Given the description of an element on the screen output the (x, y) to click on. 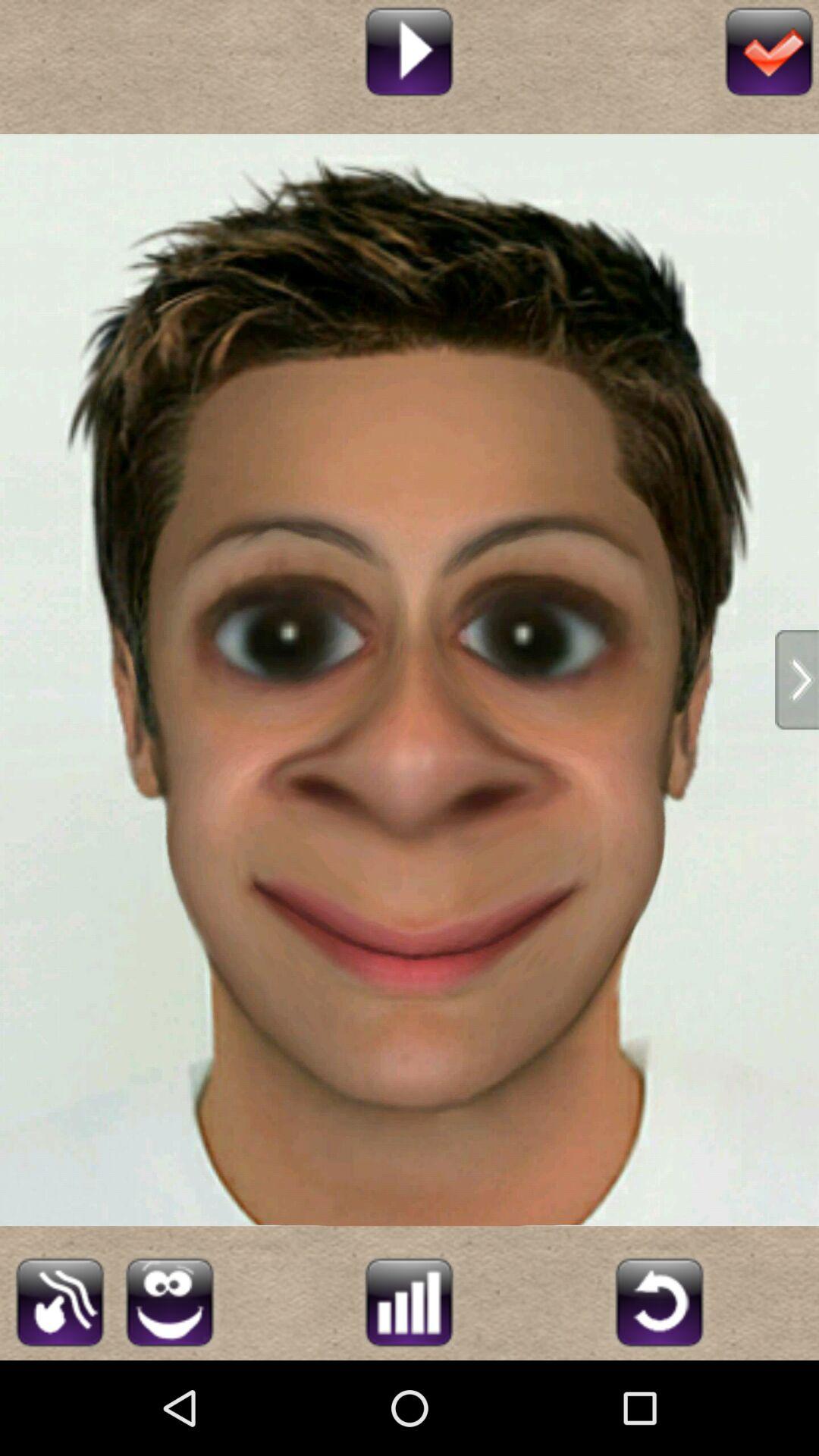
presses play (408, 49)
